Given the description of an element on the screen output the (x, y) to click on. 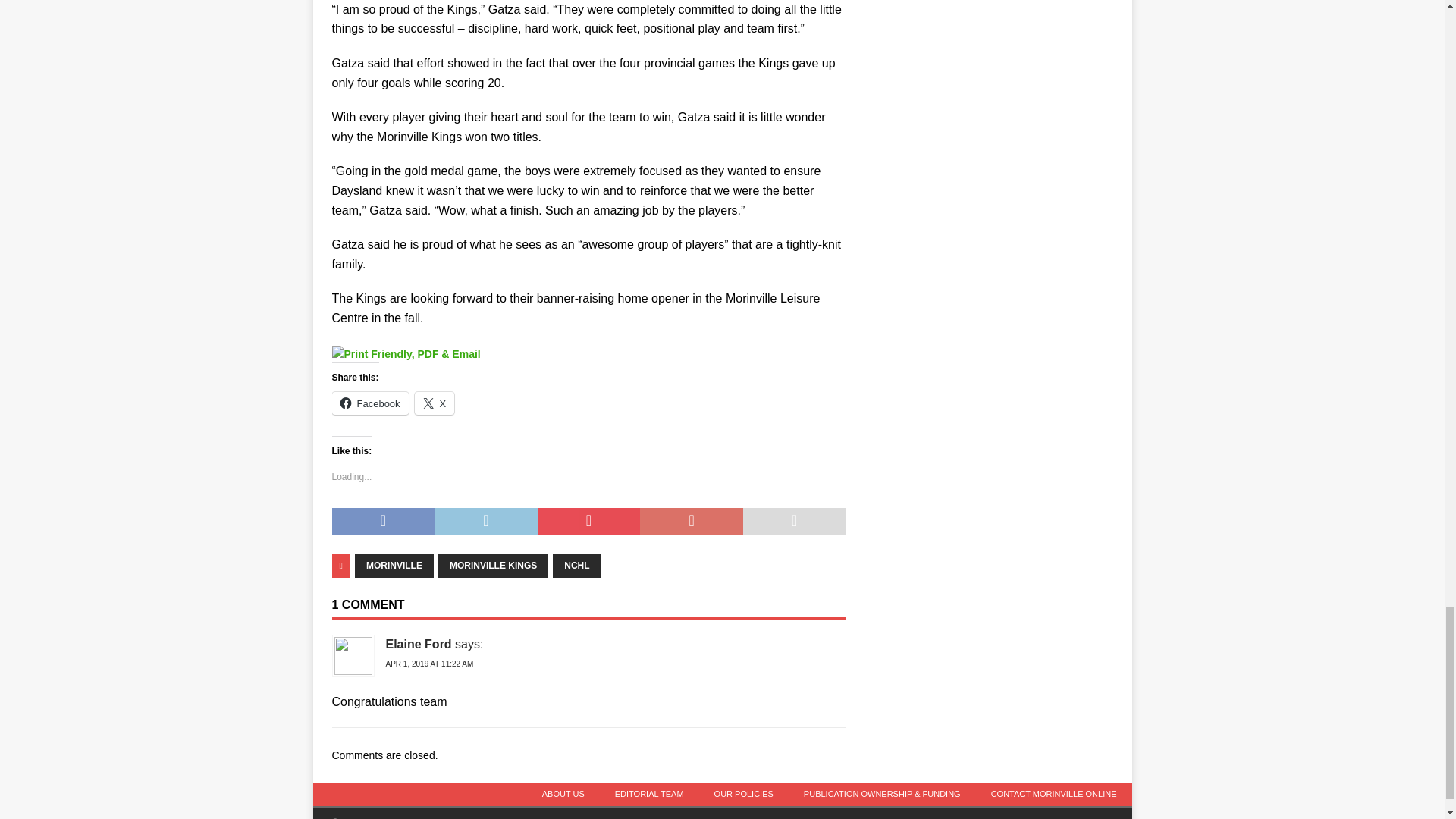
Click to share on Facebook (370, 403)
Click to share on X (434, 403)
